Given the description of an element on the screen output the (x, y) to click on. 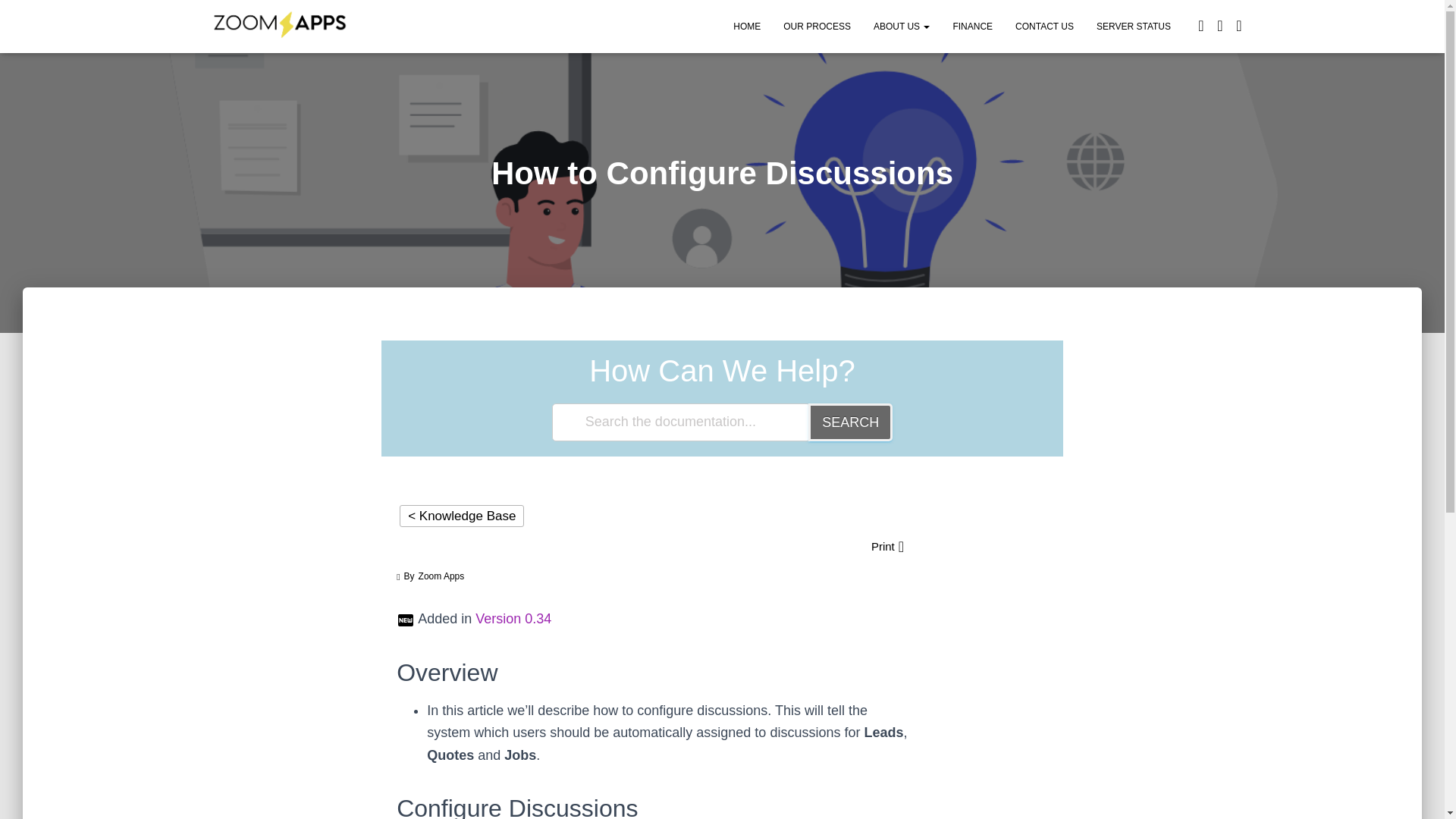
Contact Us (1044, 26)
Server Status (1133, 26)
Home (746, 26)
SERVER STATUS (1133, 26)
OUR PROCESS (816, 26)
Zoom Apps (277, 26)
SEARCH (850, 422)
Version 0.34 (513, 618)
FINANCE (972, 26)
Finance (972, 26)
